Given the description of an element on the screen output the (x, y) to click on. 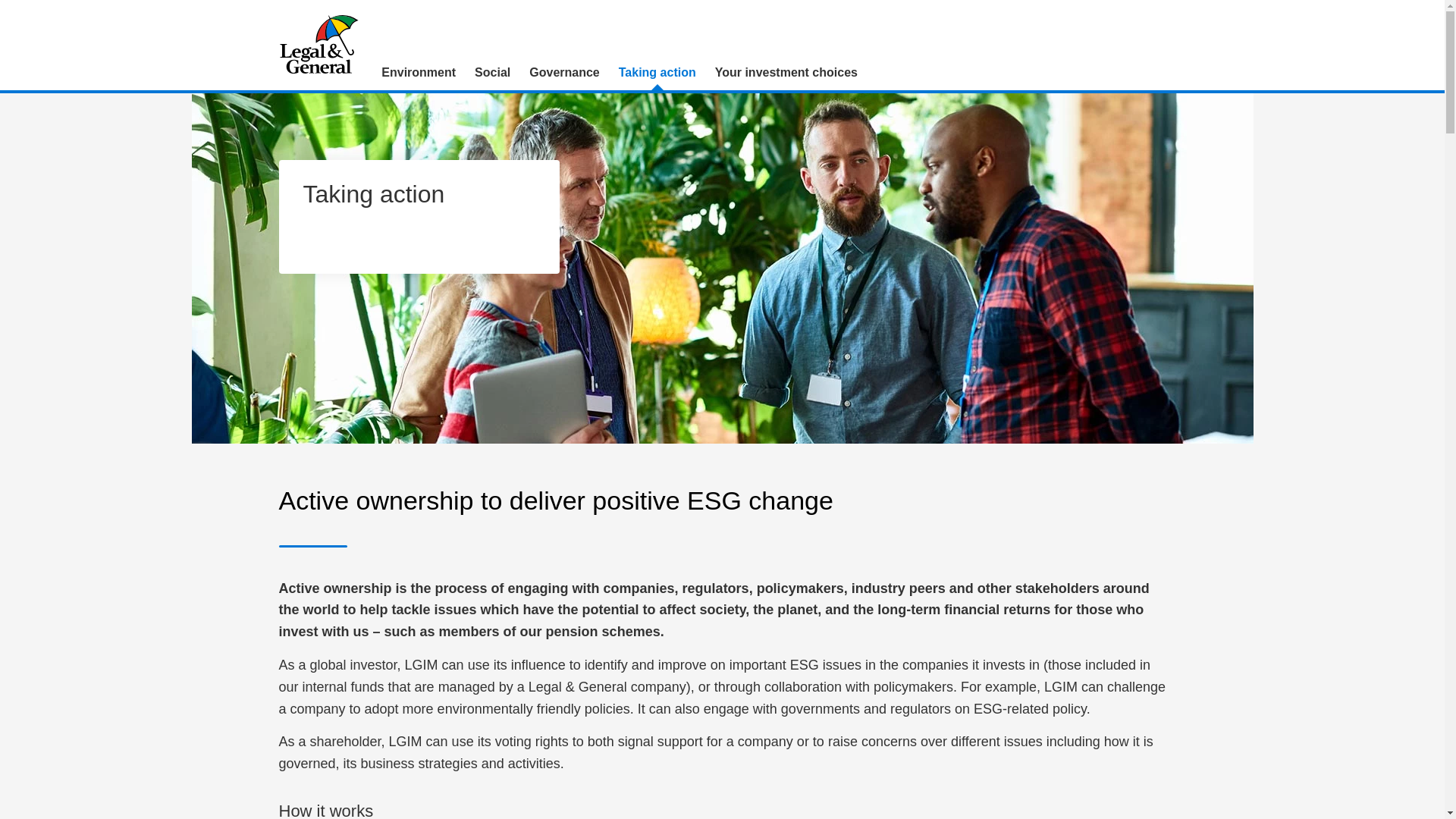
Social (492, 72)
Environment (418, 72)
Governance (564, 72)
Governance (564, 72)
Social (492, 72)
Your investment choices (785, 72)
Taking action (657, 72)
Taking action (657, 72)
Environment (418, 72)
Your investment choices (785, 72)
